Given the description of an element on the screen output the (x, y) to click on. 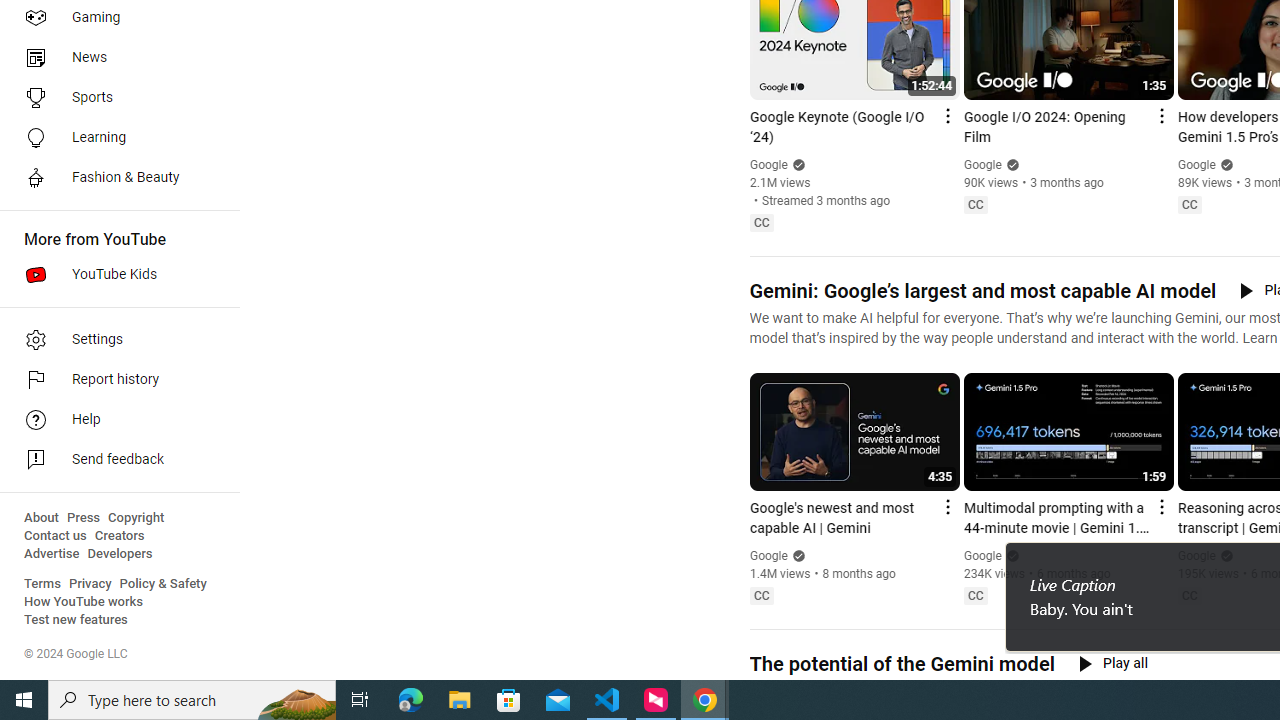
YouTube Kids (113, 274)
Creators (118, 536)
Contact us (55, 536)
Learning (113, 137)
Play all (1113, 663)
Sports (113, 97)
Test new features (76, 620)
The potential of the Gemini model (901, 664)
Closed captions (1189, 595)
Copyright (136, 518)
